Given the description of an element on the screen output the (x, y) to click on. 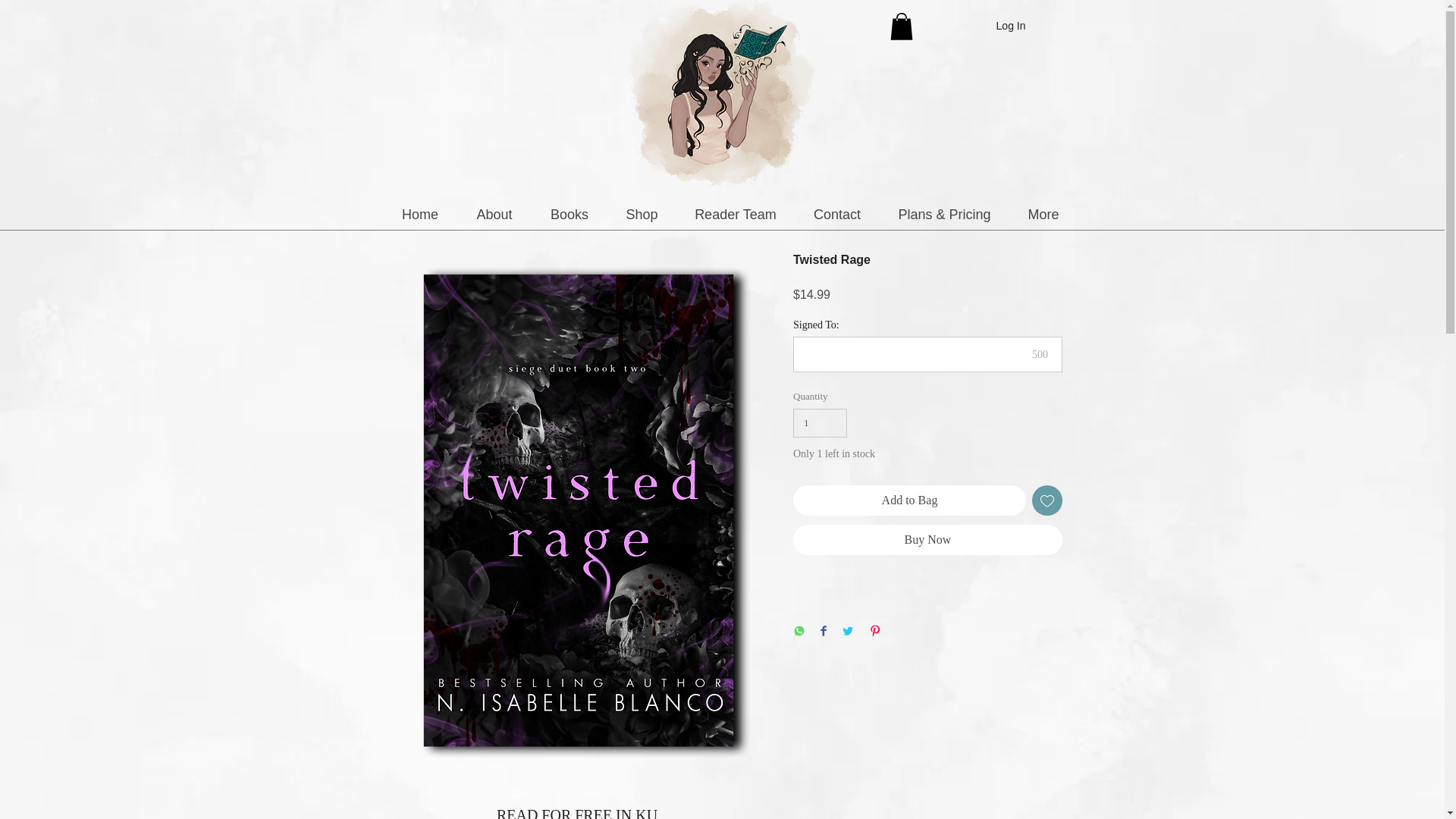
READ FOR FREE IN KU (577, 812)
Add to Bag (909, 500)
Home (420, 214)
Reader Team (735, 214)
Log In (1010, 26)
About (494, 214)
Contact (836, 214)
1 (820, 422)
Shop (641, 214)
Books (569, 214)
